Given the description of an element on the screen output the (x, y) to click on. 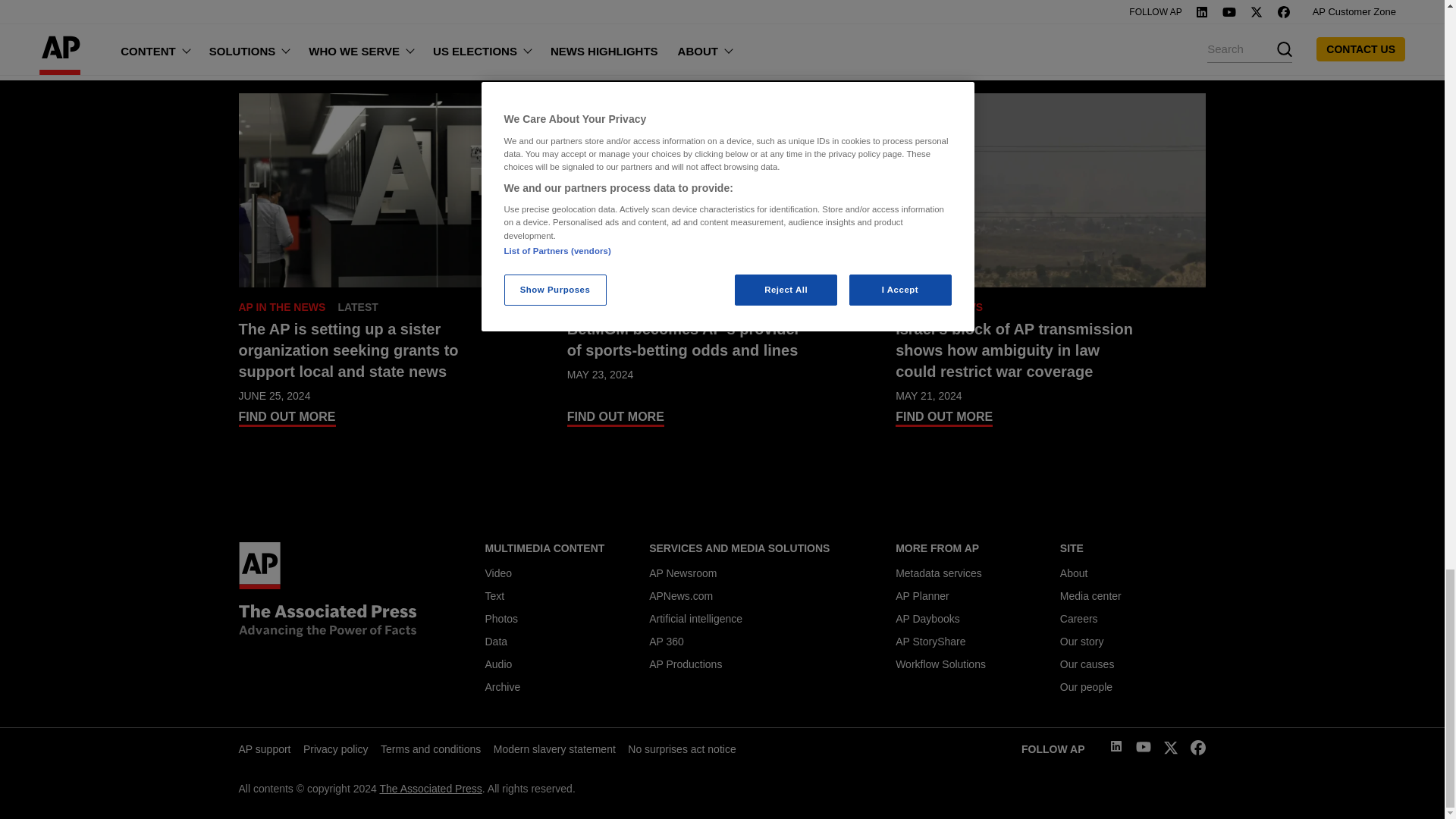
Linkedin (1116, 748)
Facebook (1198, 750)
Youtube (1143, 748)
Twitter (1170, 750)
